Given the description of an element on the screen output the (x, y) to click on. 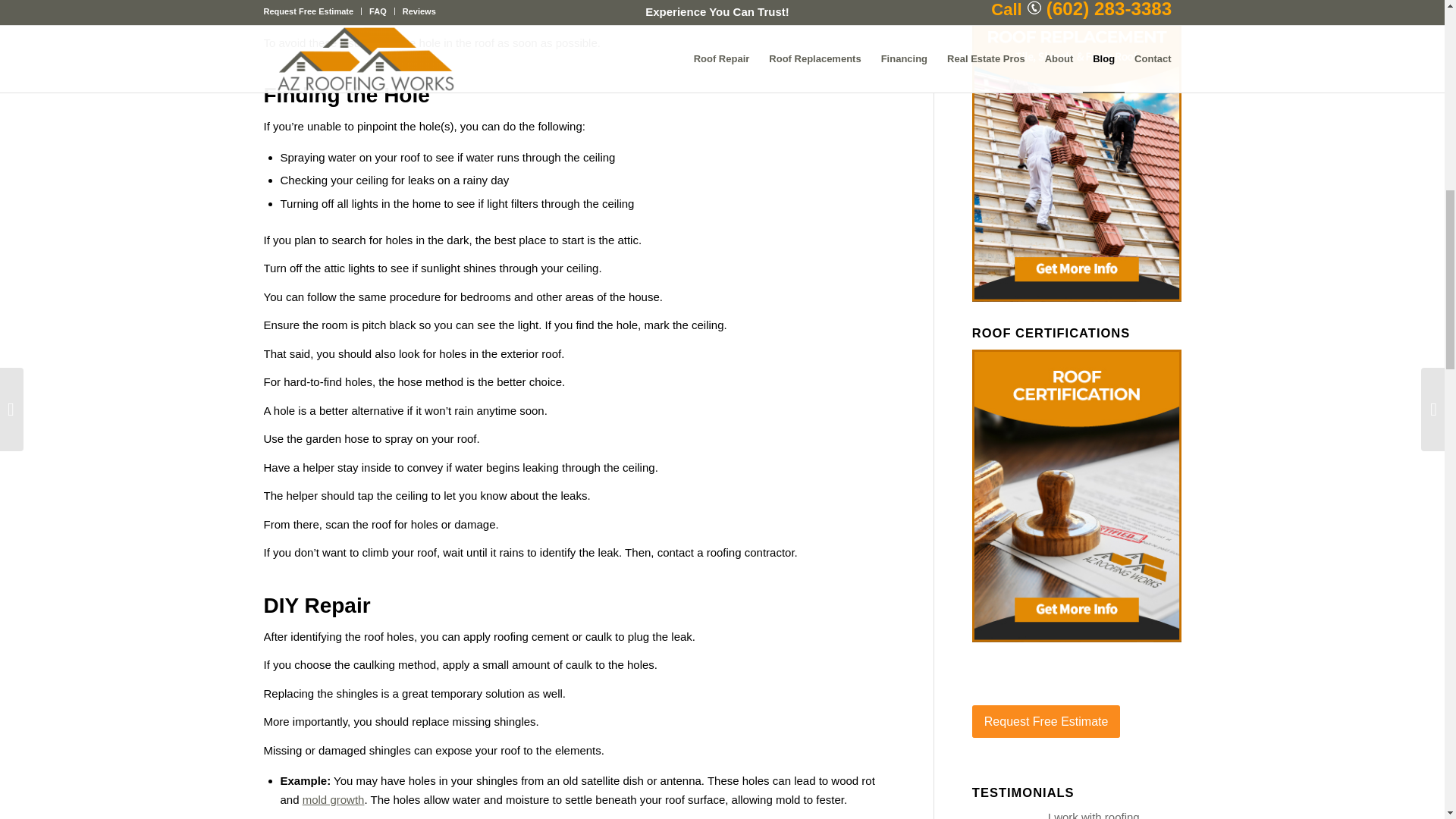
mold growth (333, 799)
